Given the description of an element on the screen output the (x, y) to click on. 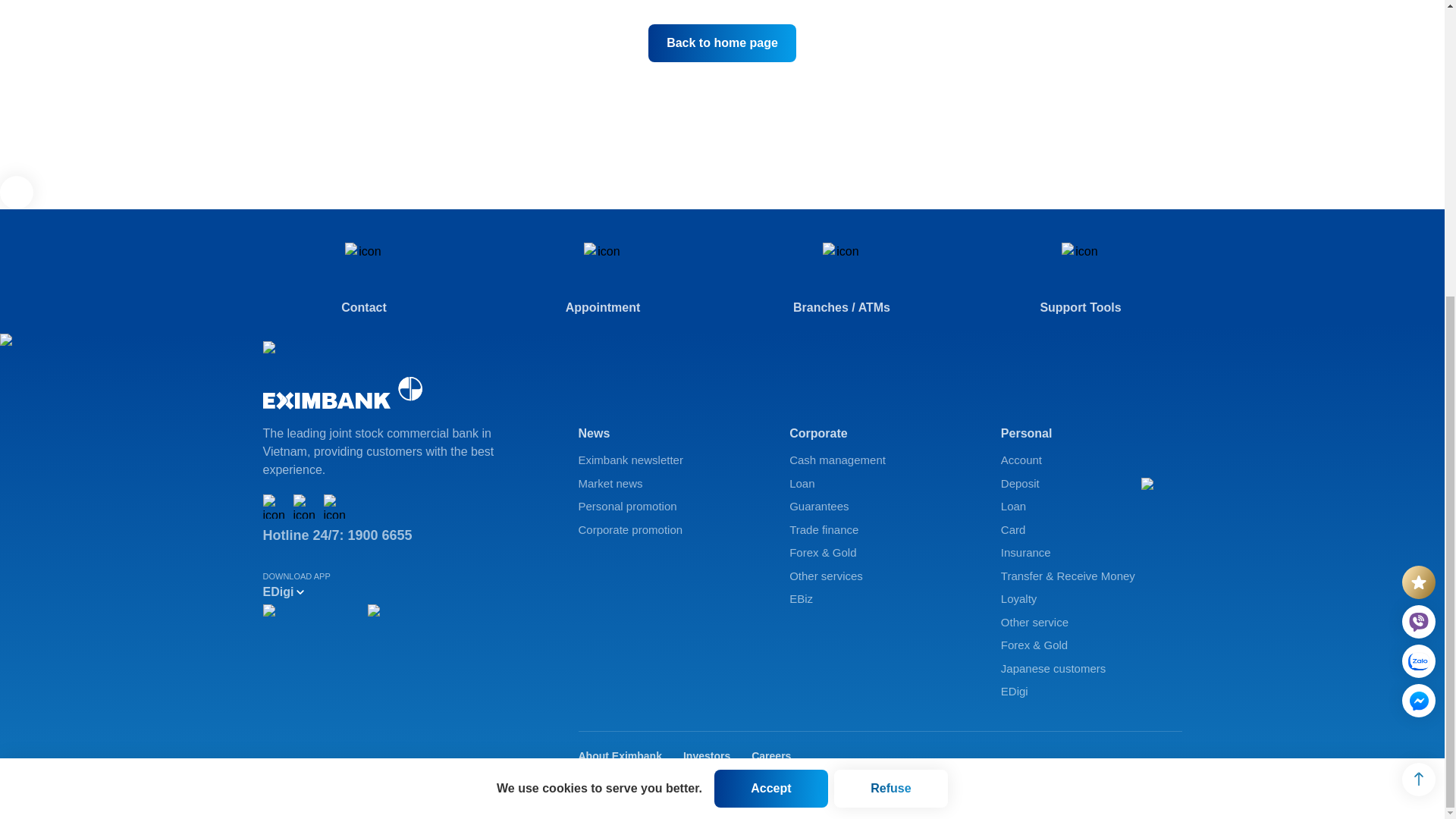
Appointment (603, 279)
Guarantees (880, 506)
Other services (880, 576)
Corporate (880, 434)
Personal promotion (668, 506)
Account (1091, 460)
Loan (880, 484)
Personal (1091, 434)
Cash management (880, 460)
Support Tools (1080, 279)
Market news (668, 484)
Refuse (890, 331)
Back to home page (721, 43)
Deposit (1091, 484)
Contact (363, 279)
